Given the description of an element on the screen output the (x, y) to click on. 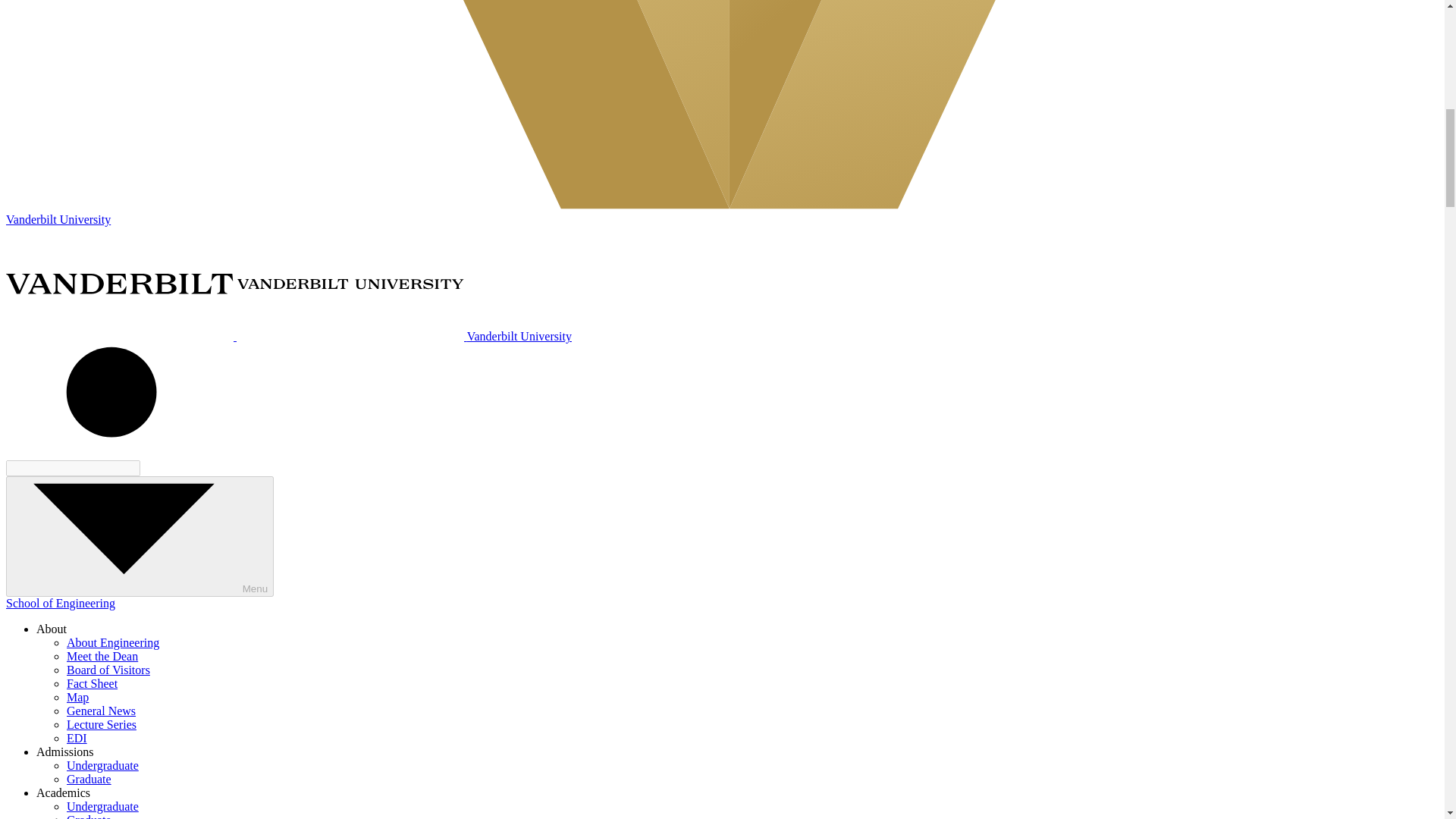
Board of Visitors (107, 669)
Graduate (89, 816)
Fact Sheet (91, 683)
Menu (139, 536)
Meet the Dean (102, 656)
Academics (63, 792)
EDI (76, 738)
About Engineering (112, 642)
General News (100, 710)
Vanderbilt University (288, 336)
Undergraduate (102, 806)
Admissions (65, 751)
Graduate (89, 779)
School of Engineering (60, 603)
About (51, 628)
